Given the description of an element on the screen output the (x, y) to click on. 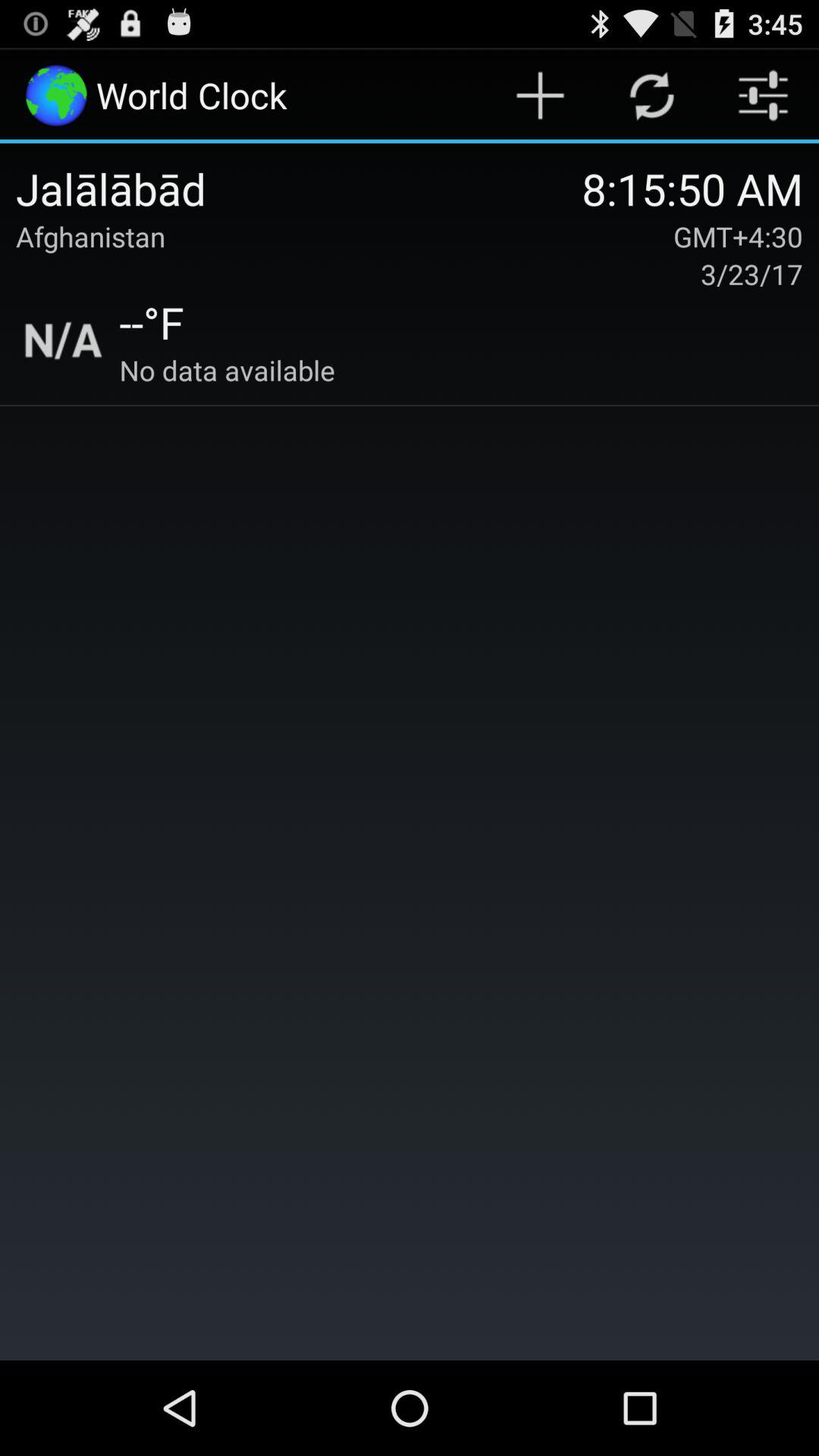
click on logo beside swap logo (540, 95)
go to logo left side of world clock (55, 95)
click on the icon which is right to the refresh icon (763, 95)
